Given the description of an element on the screen output the (x, y) to click on. 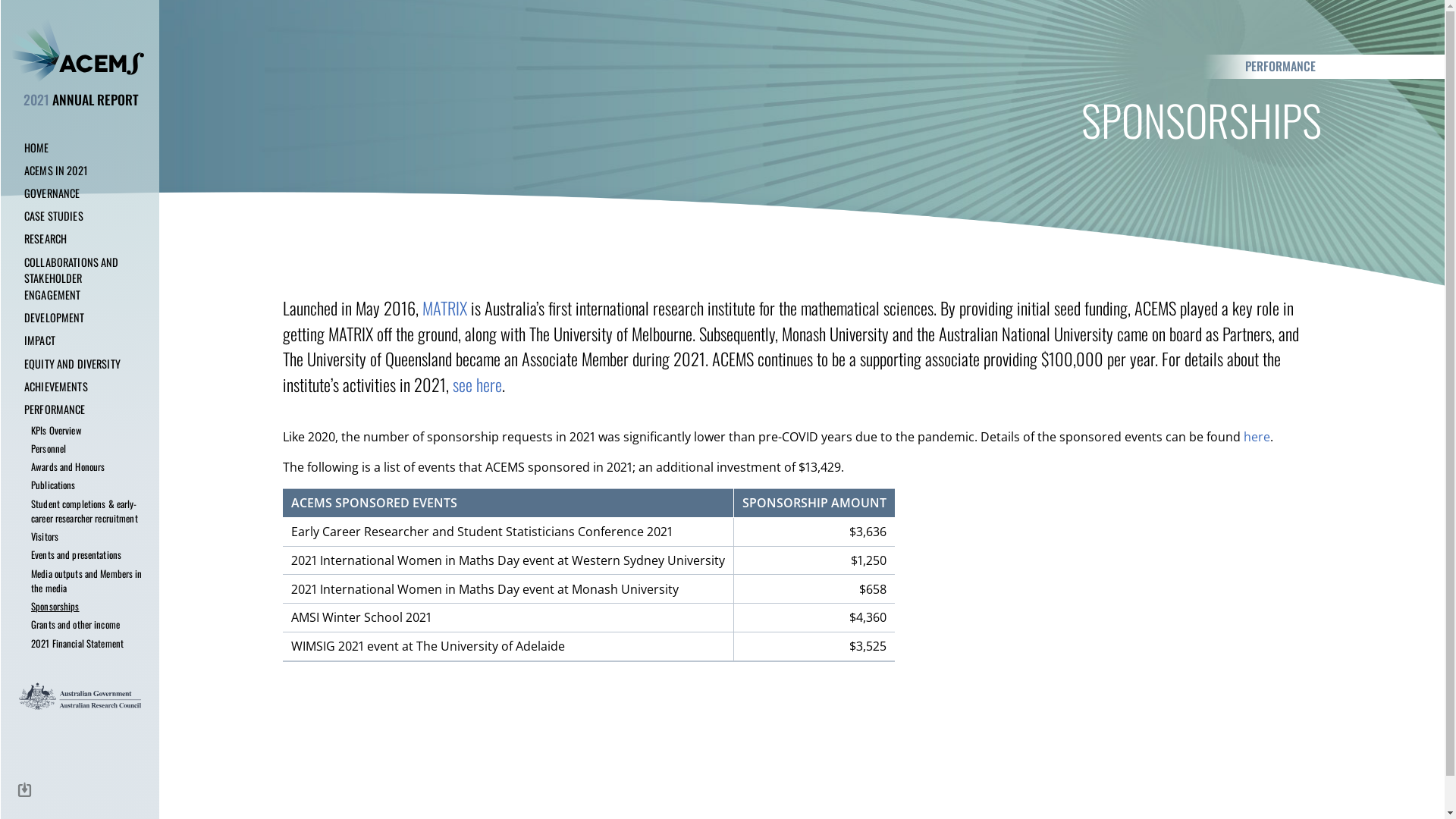
Awards and Honours Element type: text (79, 467)
ACHIEVEMENTS Element type: text (79, 386)
Sponsorships Element type: text (79, 606)
Personnel Element type: text (79, 448)
Media outputs and Members in the media Element type: text (79, 580)
EQUITY AND DIVERSITY Element type: text (79, 362)
MATRIX Element type: text (443, 307)
ACEMS ARC Element type: text (79, 50)
DEVELOPMENT Element type: text (79, 317)
KPIs Overview Element type: text (79, 429)
Visitors Element type: text (79, 536)
here Element type: text (1256, 436)
Student completions & early-career researcher recruitment Element type: text (79, 510)
Events and presentations Element type: text (79, 555)
IMPACT Element type: text (79, 340)
COLLABORATIONS AND STAKEHOLDER ENGAGEMENT Element type: text (79, 277)
HOME Element type: text (79, 146)
see here Element type: text (476, 383)
CASE STUDIES Element type: text (79, 215)
2021 Financial Statement Element type: text (79, 642)
Grants and other income Element type: text (79, 624)
GOVERNANCE Element type: text (79, 193)
ACEMS IN 2021 Element type: text (79, 169)
RESEARCH Element type: text (79, 238)
Publications Element type: text (79, 485)
PERFORMANCE Element type: text (79, 409)
